Given the description of an element on the screen output the (x, y) to click on. 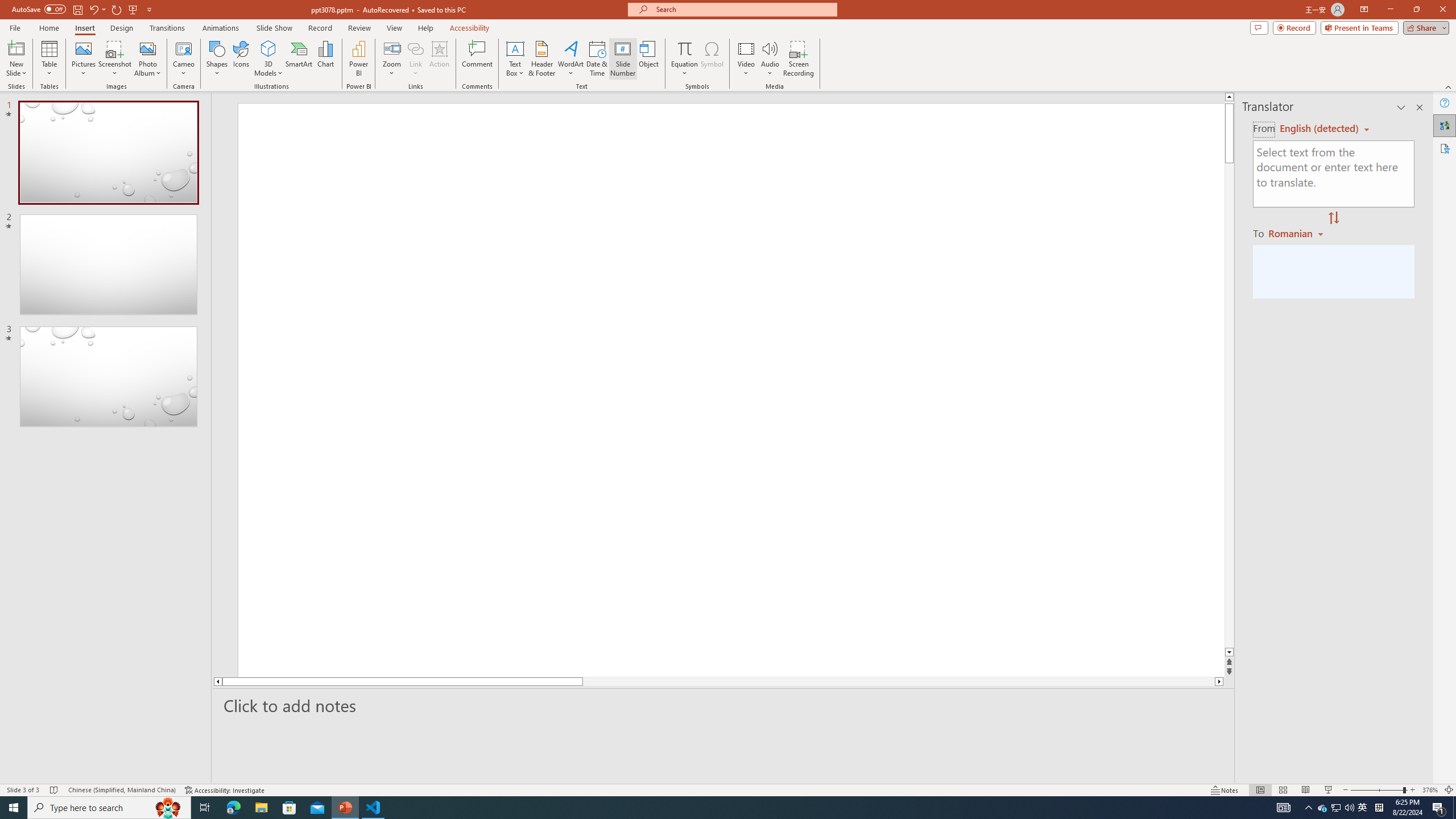
Icons (240, 58)
Video (745, 58)
Action (439, 58)
Table (49, 58)
An abstract genetic concept (731, 396)
Comment (476, 58)
